Given the description of an element on the screen output the (x, y) to click on. 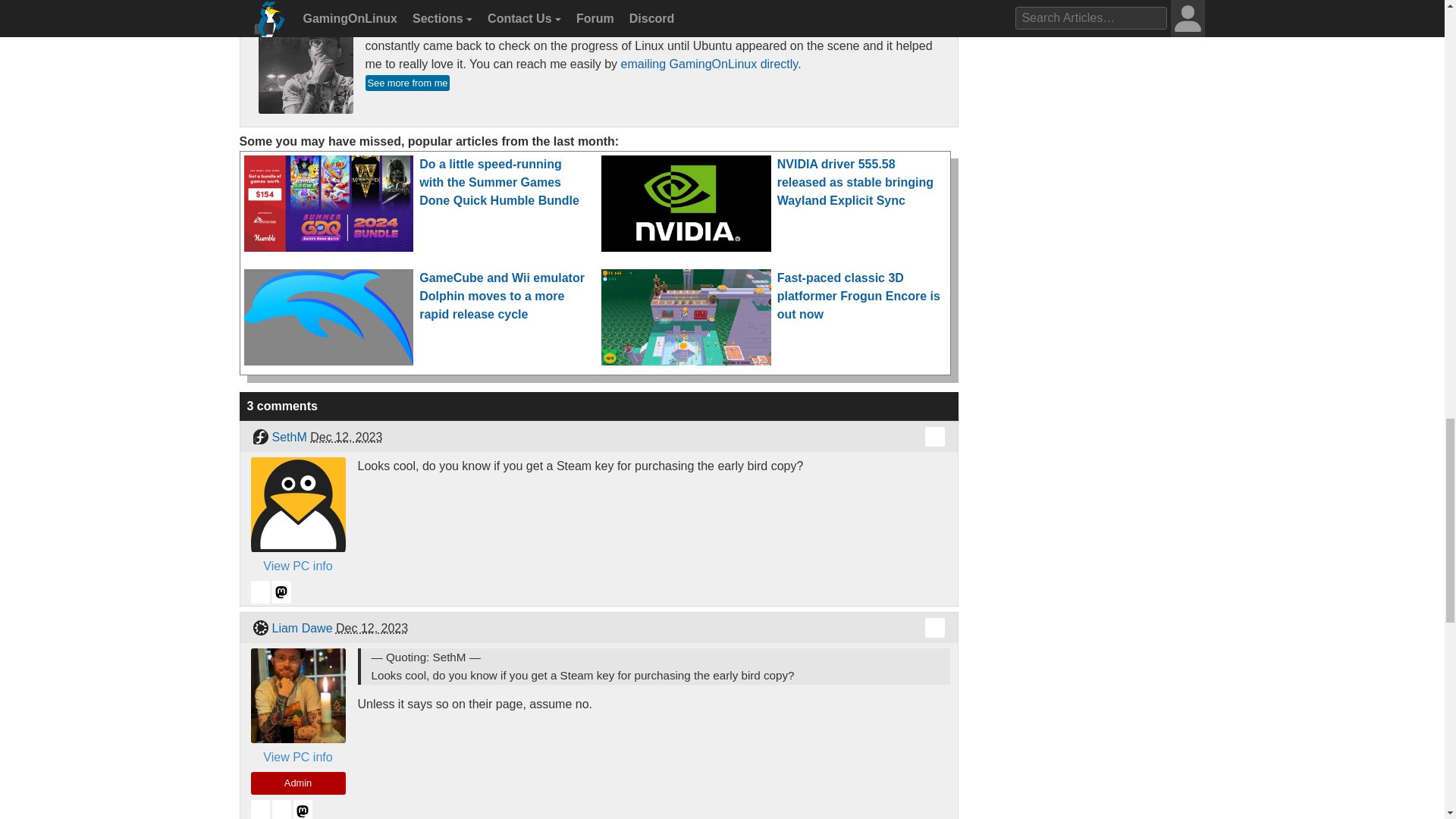
Kubuntu (259, 628)
Link to this comment (934, 628)
Fedora (259, 436)
Link to this comment (934, 436)
